Given the description of an element on the screen output the (x, y) to click on. 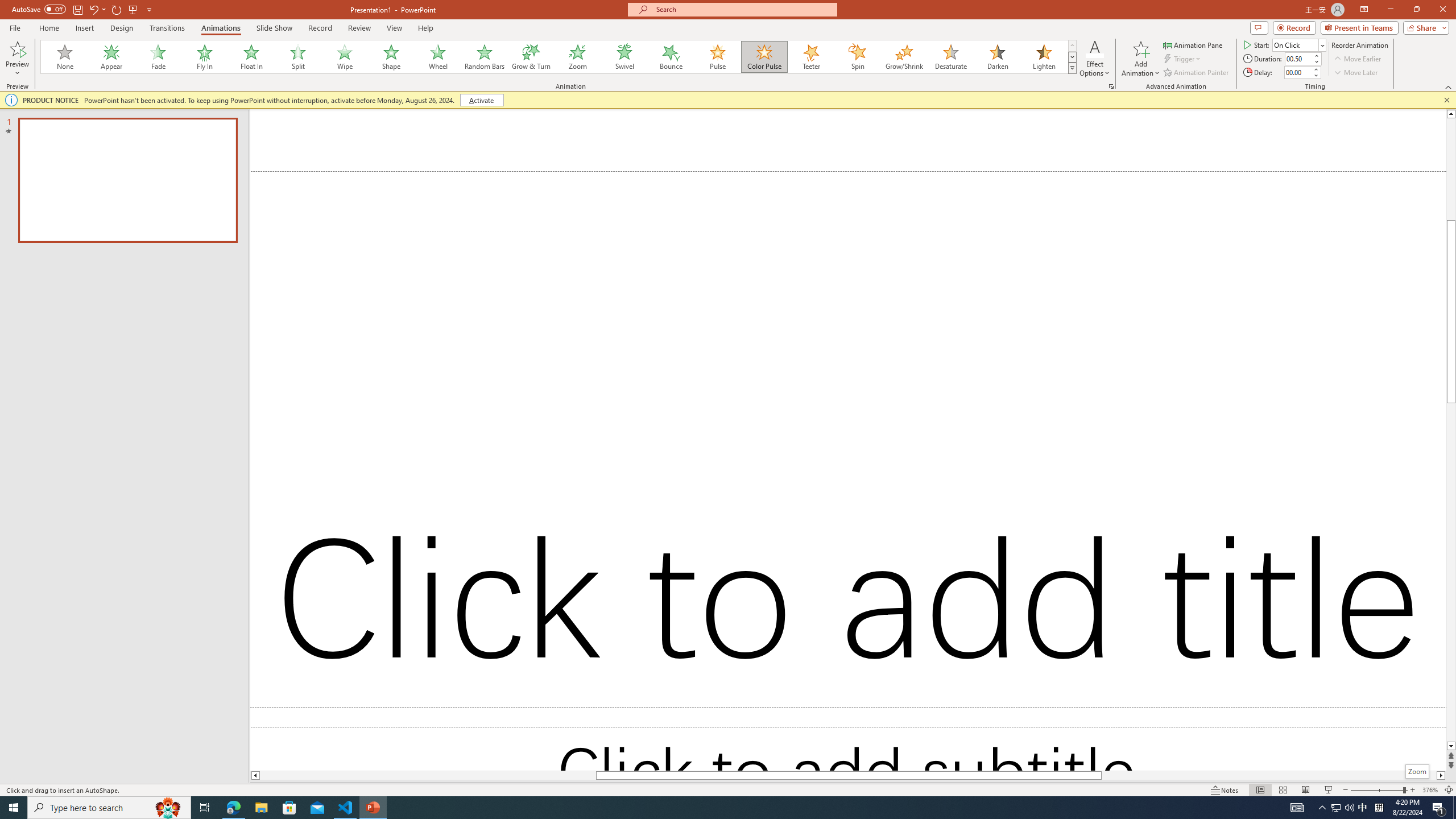
Move Later (1355, 72)
More Options... (1110, 85)
Add Animation (1141, 58)
Bounce (670, 56)
More (1315, 69)
Wipe (344, 56)
Random Bars (484, 56)
Class: NetUIImage (1072, 68)
Row up (1071, 45)
